Given the description of an element on the screen output the (x, y) to click on. 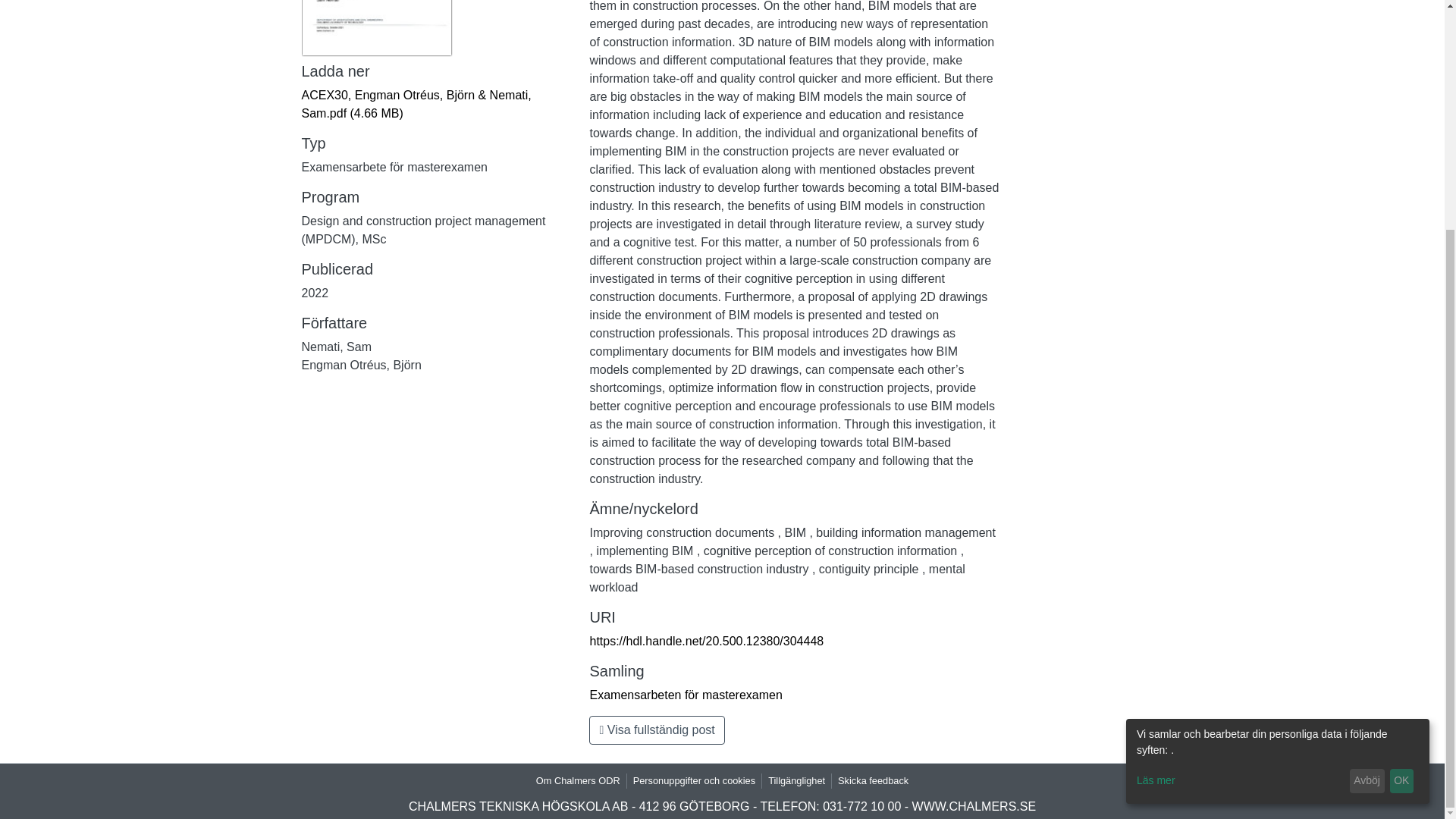
Personuppgifter och cookies (694, 780)
OK (1401, 470)
Om Chalmers ODR (577, 780)
Skicka feedback (872, 780)
WWW.CHALMERS.SE (974, 806)
